Given the description of an element on the screen output the (x, y) to click on. 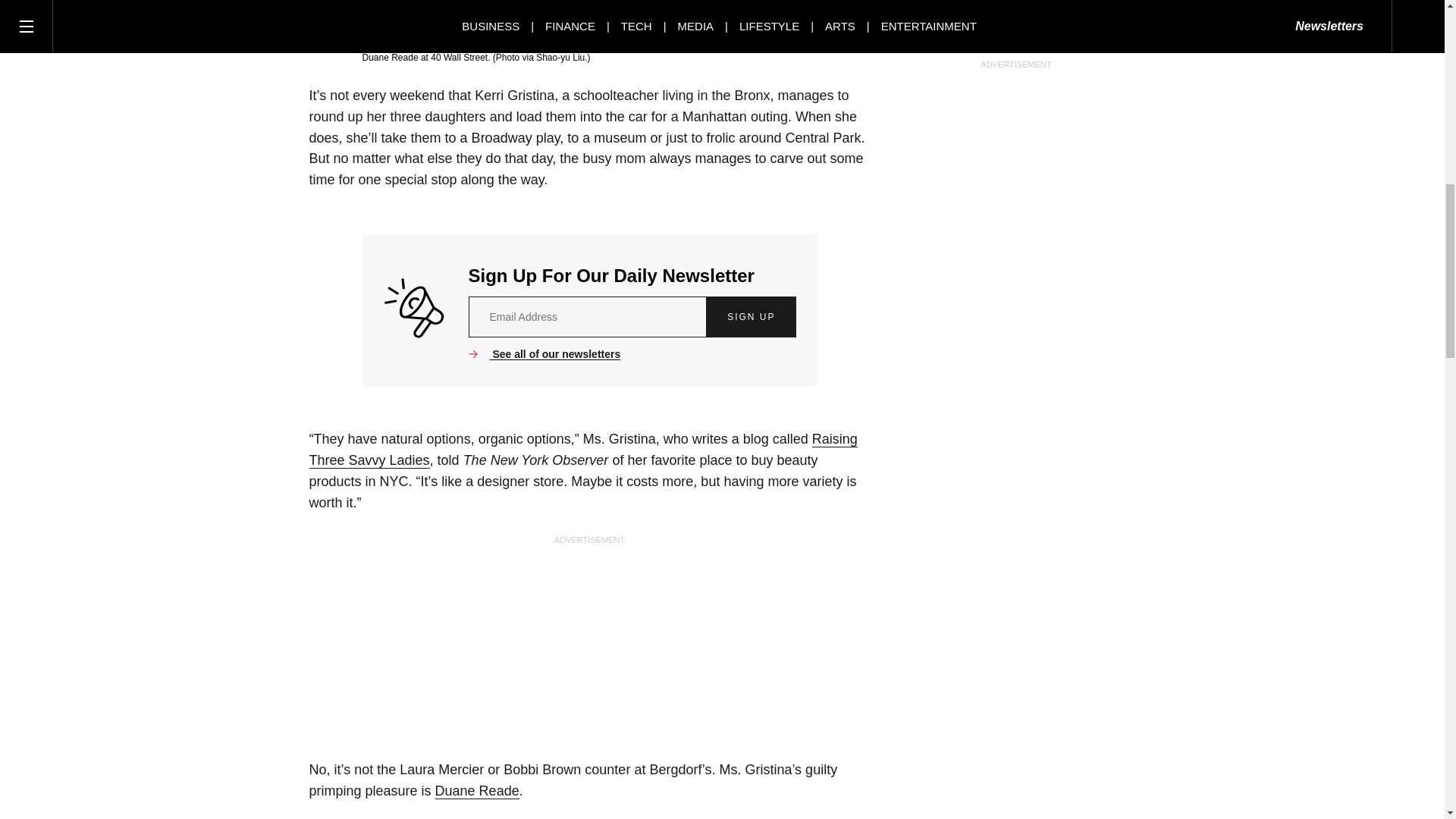
Duane Reade (477, 790)
